Given the description of an element on the screen output the (x, y) to click on. 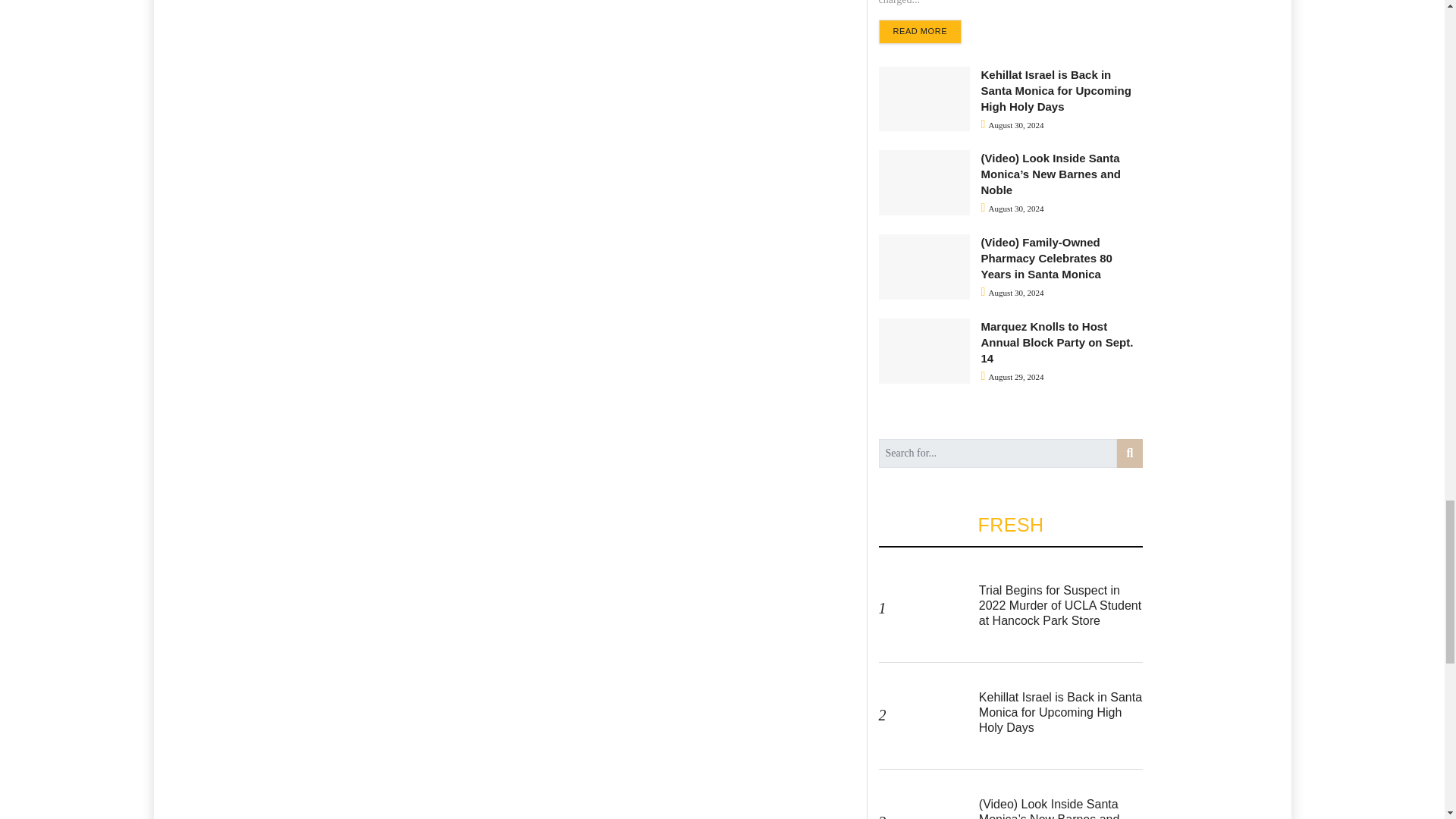
READ MORE (918, 31)
